Given the description of an element on the screen output the (x, y) to click on. 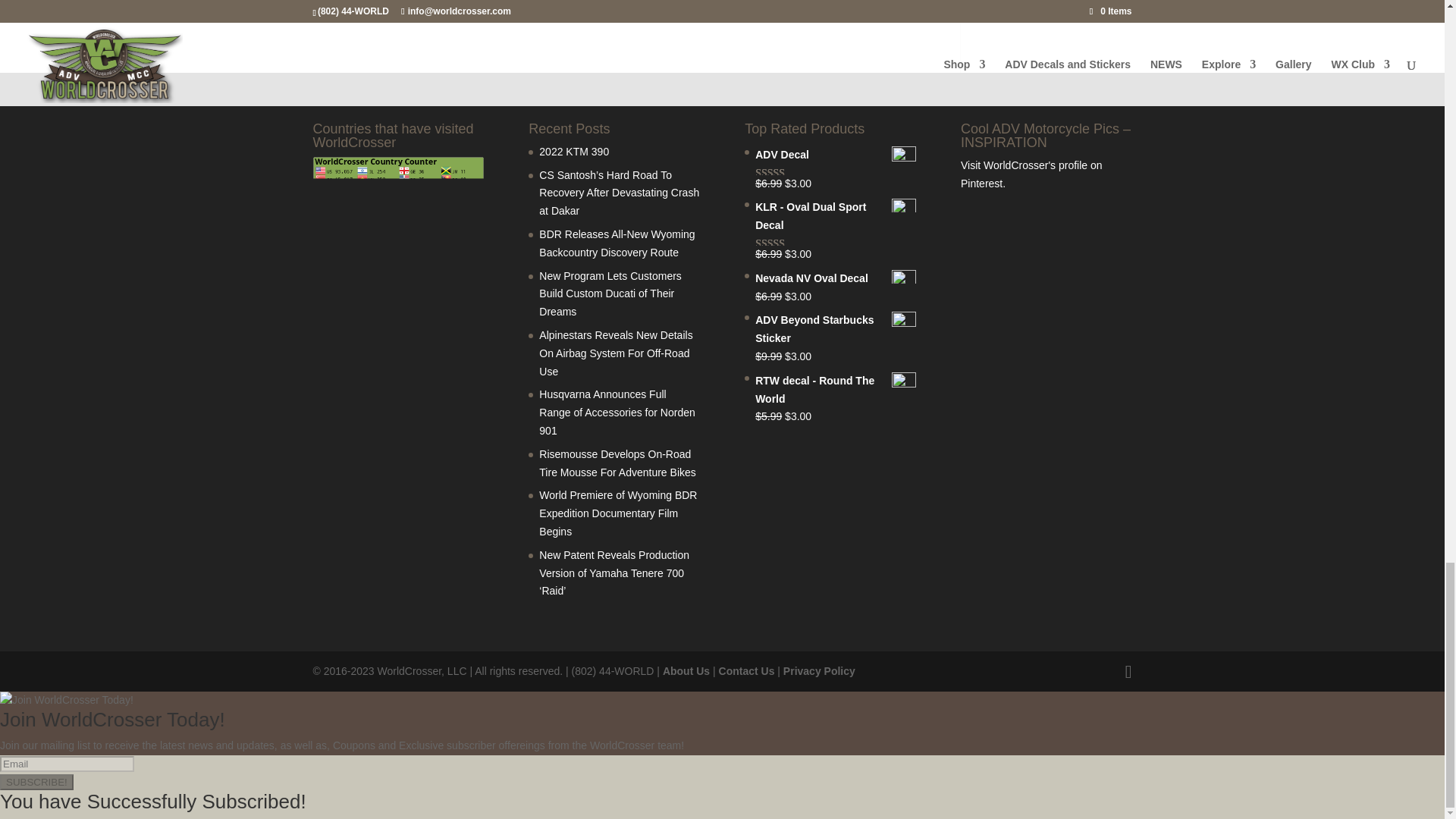
2022 KTM 390 (573, 151)
BDR Releases All-New Wyoming Backcountry Discovery Route (616, 243)
